Given the description of an element on the screen output the (x, y) to click on. 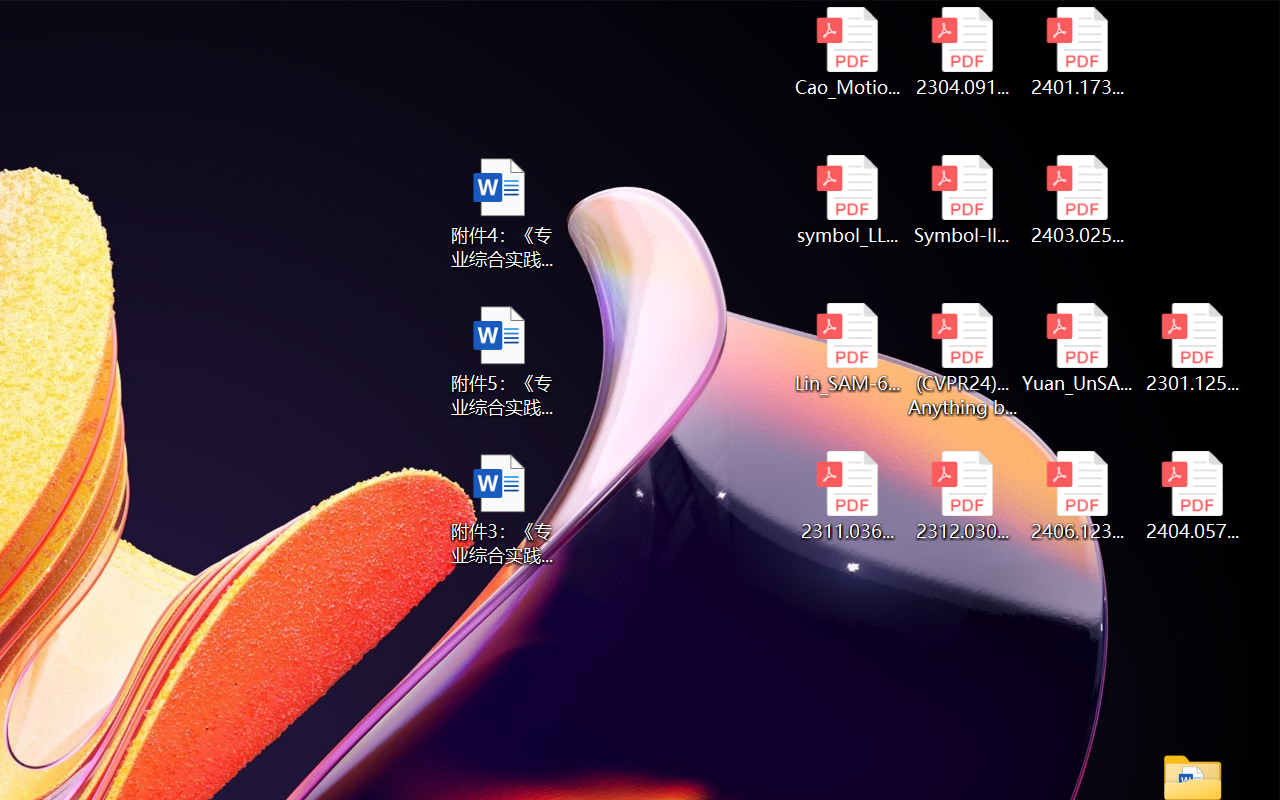
2304.09121v3.pdf (962, 52)
2301.12597v3.pdf (1192, 348)
2312.03032v2.pdf (962, 496)
2311.03658v2.pdf (846, 496)
2403.02502v1.pdf (1077, 200)
symbol_LLM.pdf (846, 200)
2406.12373v2.pdf (1077, 496)
Symbol-llm-v2.pdf (962, 200)
2404.05719v1.pdf (1192, 496)
(CVPR24)Matching Anything by Segmenting Anything.pdf (962, 360)
